Given the description of an element on the screen output the (x, y) to click on. 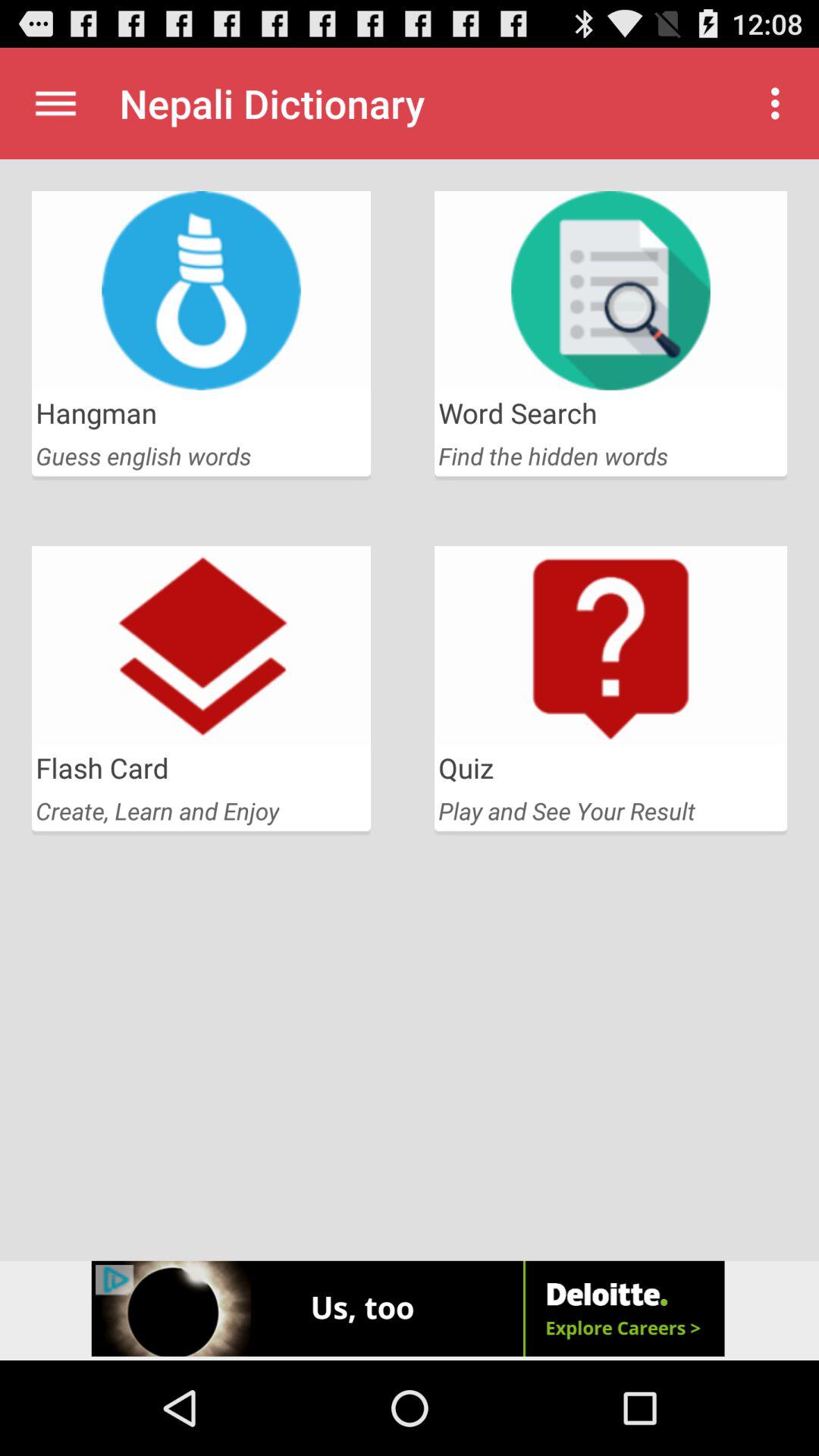
select deloitte advertisement (409, 1310)
